Given the description of an element on the screen output the (x, y) to click on. 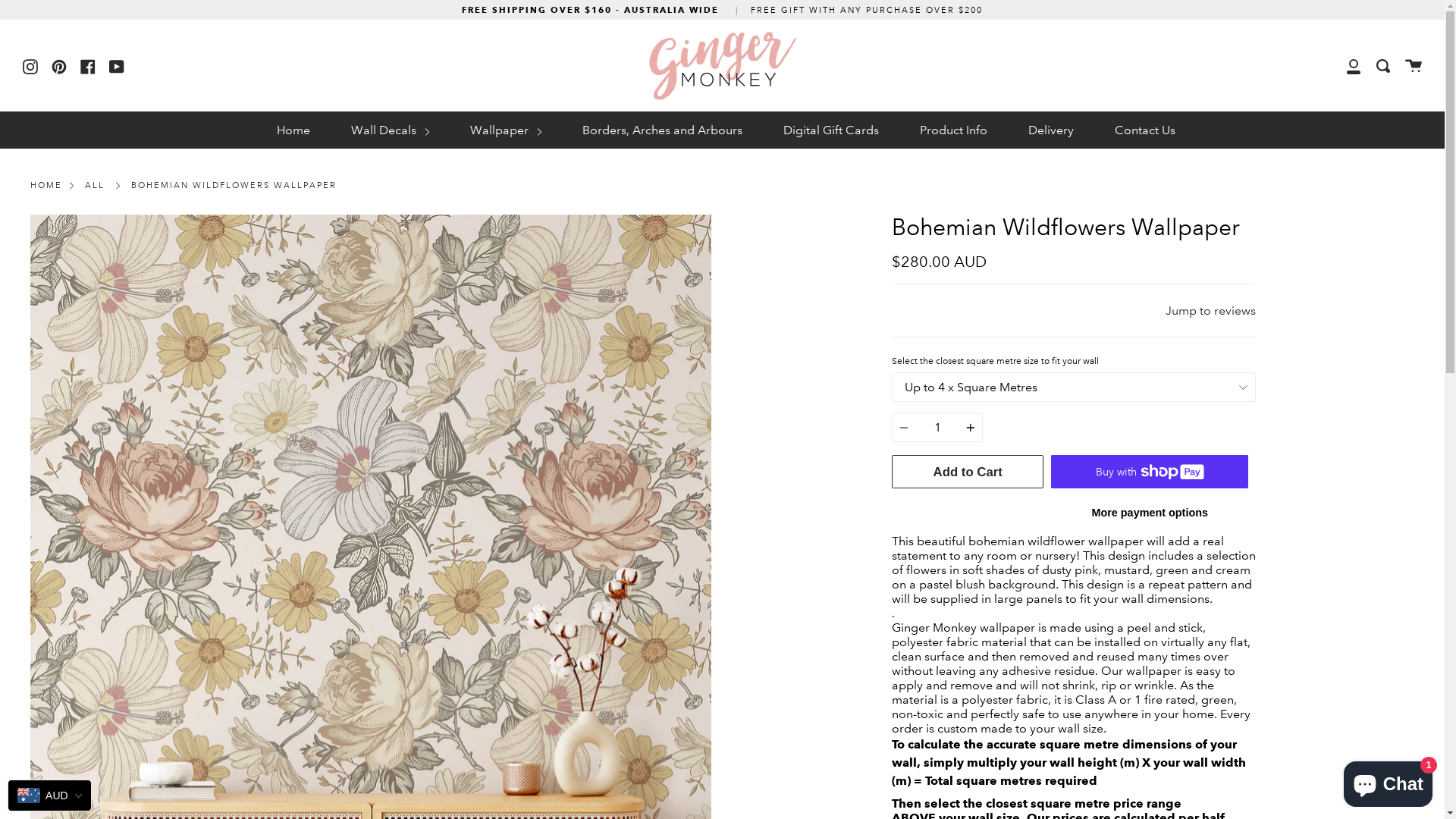
Pinterest Element type: text (58, 65)
YouTube Element type: text (116, 65)
Wall Decals Element type: text (390, 129)
Product Info Element type: text (953, 129)
BOHEMIAN WILDFLOWERS WALLPAPER Element type: text (233, 185)
Home Element type: text (293, 129)
Delivery Element type: text (1050, 129)
Shopify online store chat Element type: hover (1388, 780)
Instagram Element type: text (29, 65)
Facebook Element type: text (87, 65)
HOME Element type: text (46, 185)
ALL Element type: text (94, 185)
Jump to reviews Element type: text (1210, 310)
Search Element type: text (1383, 65)
Borders, Arches and Arbours Element type: text (662, 129)
Digital Gift Cards Element type: text (830, 129)
My Account Element type: text (1353, 65)
Wallpaper Element type: text (505, 129)
Cart Element type: text (1413, 65)
Contact Us Element type: text (1144, 129)
Add to Cart Element type: text (967, 471)
More payment options Element type: text (1149, 513)
